Given the description of an element on the screen output the (x, y) to click on. 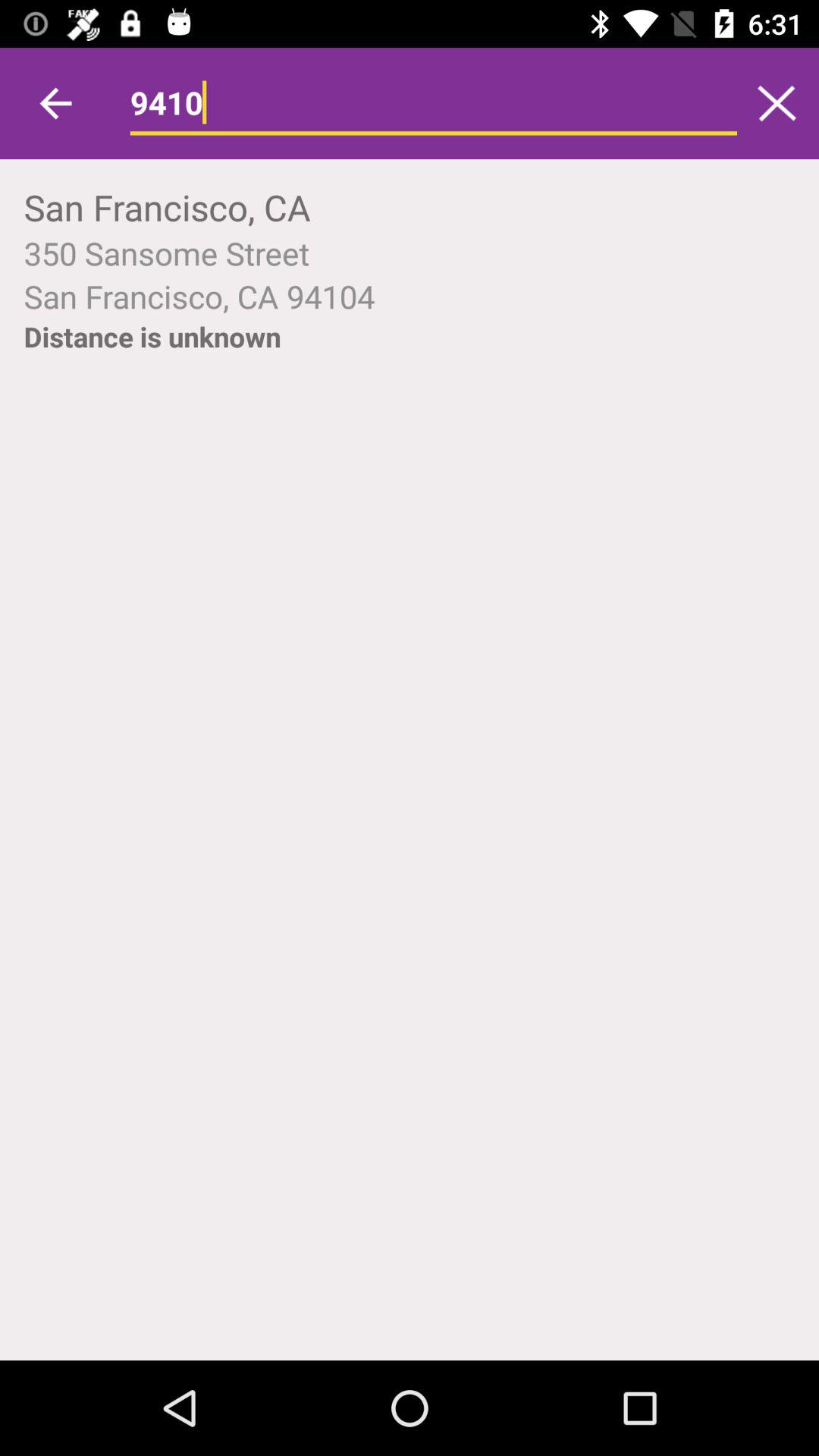
turn off item above san francisco ca item (409, 252)
